Given the description of an element on the screen output the (x, y) to click on. 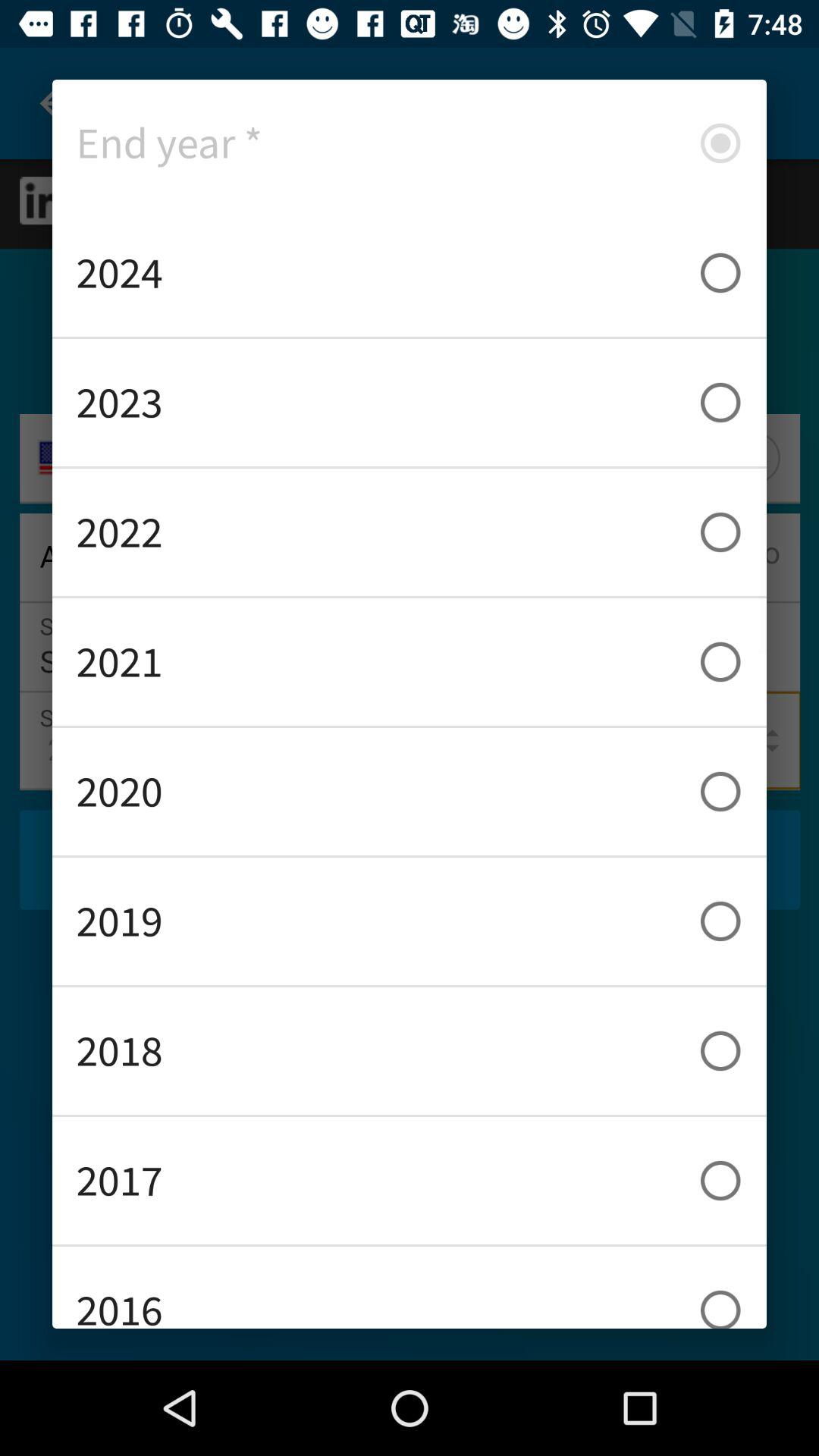
tap the item below 2018 (409, 1180)
